Given the description of an element on the screen output the (x, y) to click on. 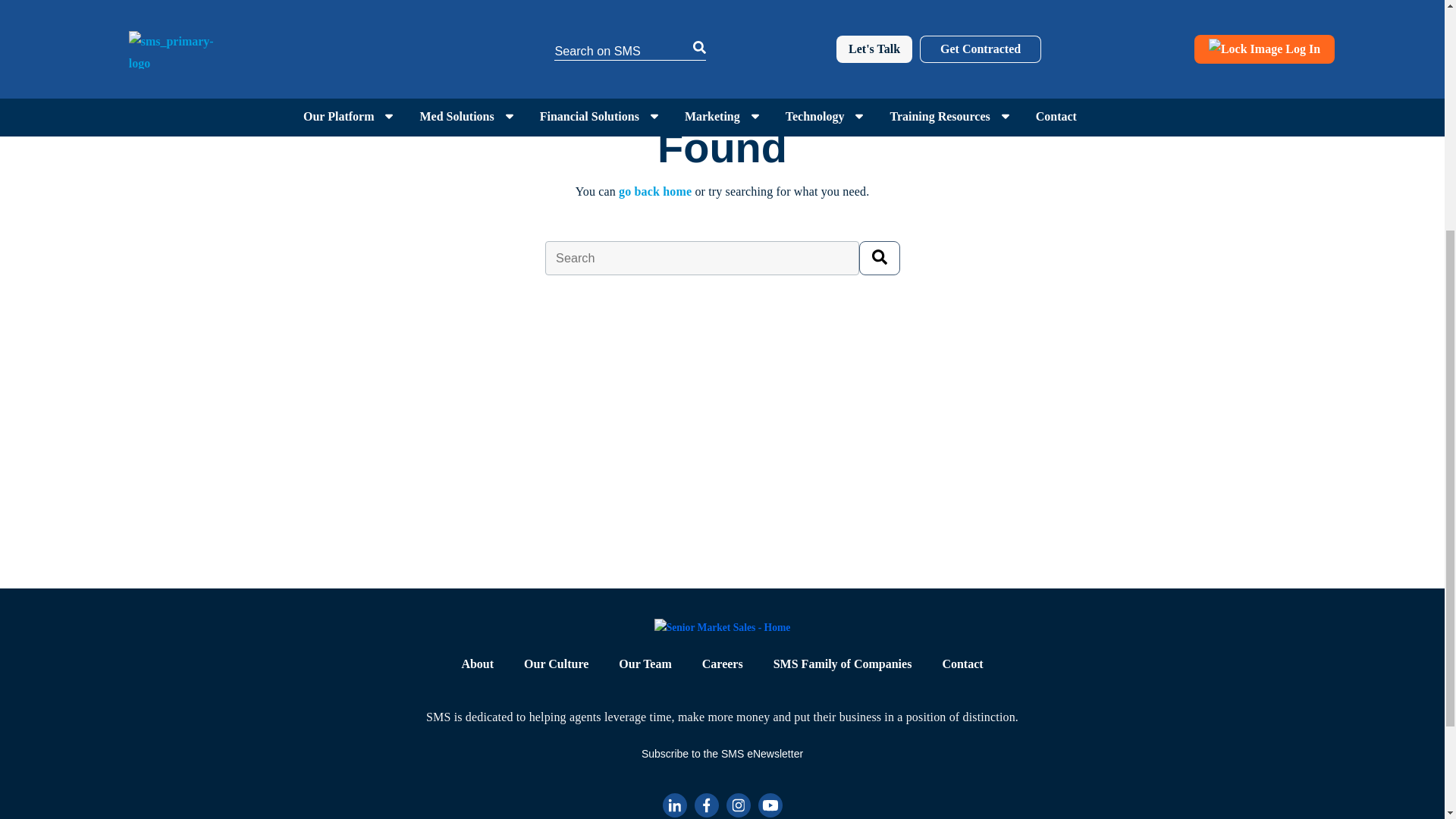
Linkedin (674, 805)
YouTube (770, 805)
Facebook (706, 805)
Instagram (738, 805)
Senior Market Sales - Home (721, 628)
